Given the description of an element on the screen output the (x, y) to click on. 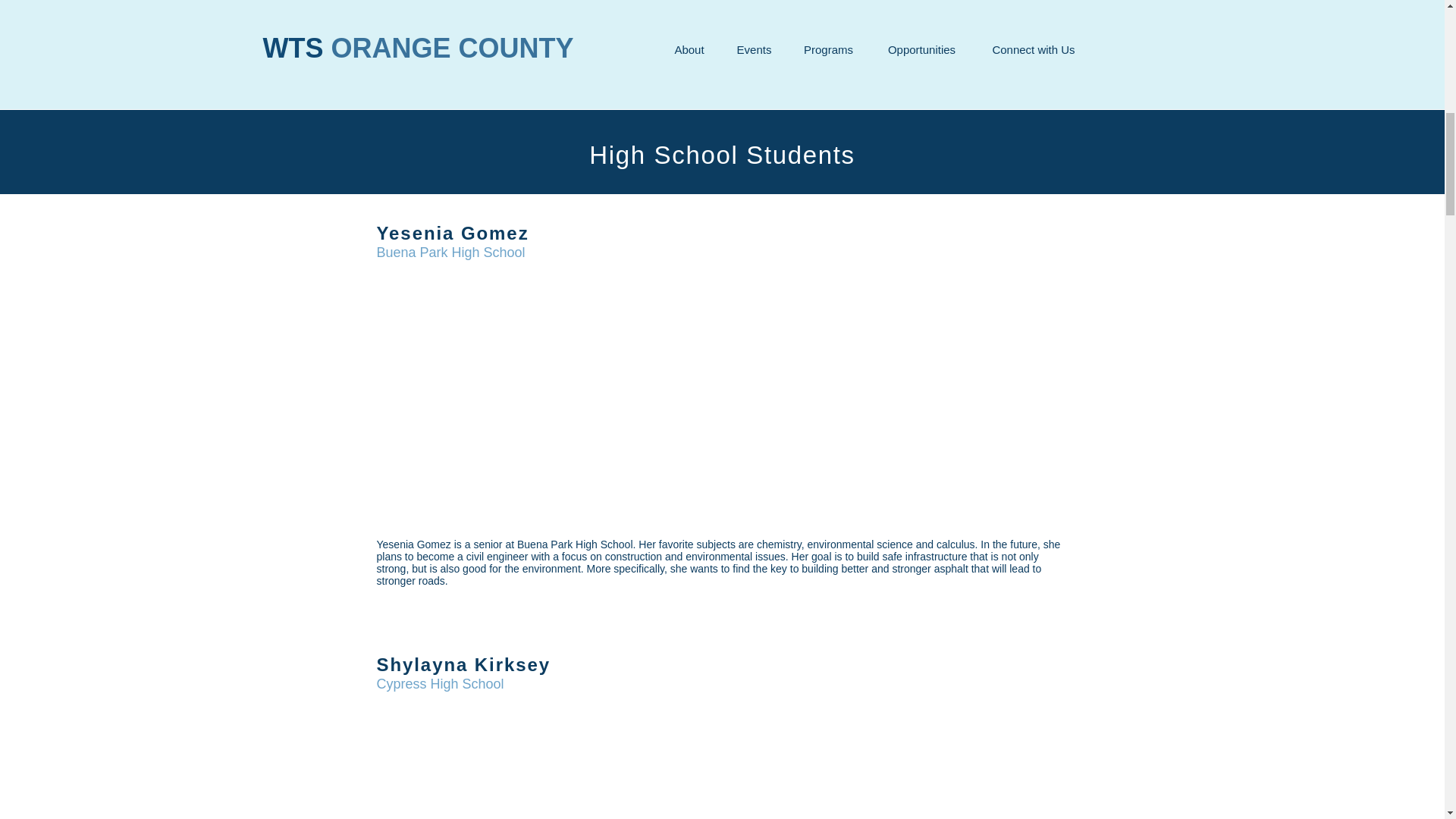
High school (426, 21)
Undergraduate (435, 58)
Graduate (419, 76)
Community college (445, 40)
